Given the description of an element on the screen output the (x, y) to click on. 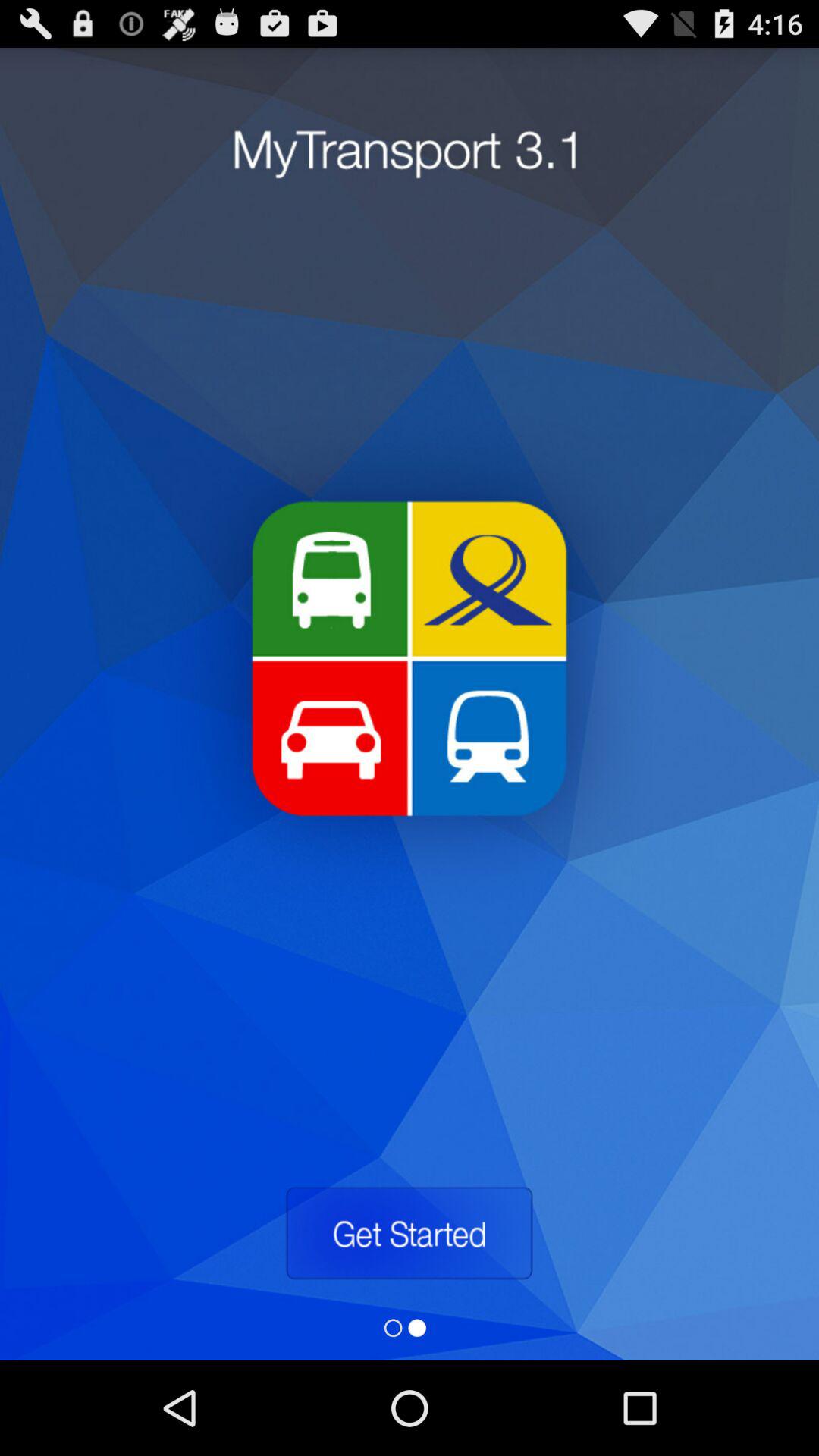
get started (408, 1232)
